Given the description of an element on the screen output the (x, y) to click on. 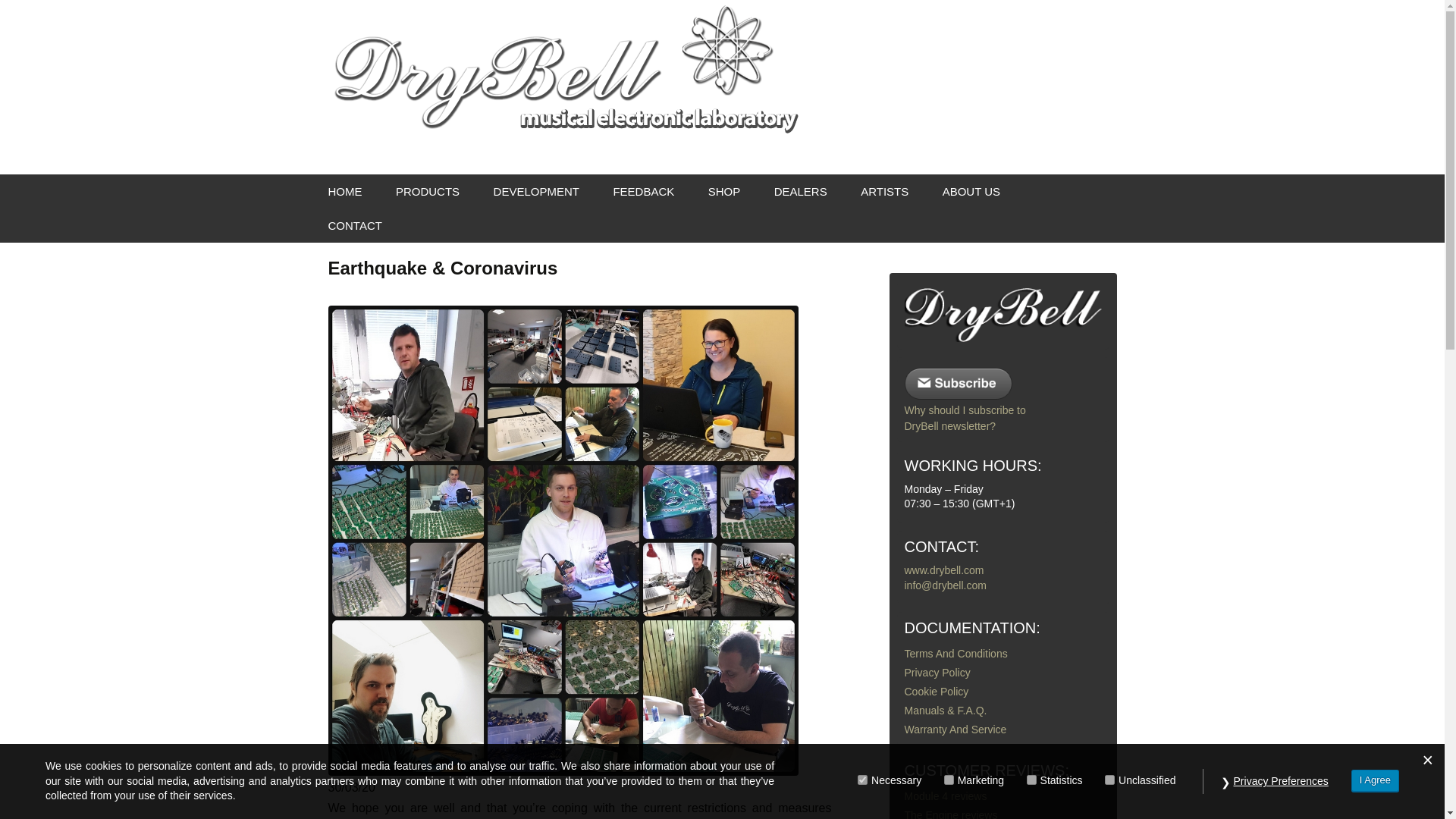
ABOUT US (970, 191)
Search (18, 15)
Statistics (1031, 779)
Necessary (862, 779)
HOME (345, 191)
Unclassified (1110, 779)
SHOP (724, 191)
FEEDBACK (642, 191)
Marketing (948, 779)
PRODUCTS (427, 191)
DEVELOPMENT (536, 191)
CONTACT (354, 225)
DEALERS (800, 191)
ARTISTS (884, 191)
